Given the description of an element on the screen output the (x, y) to click on. 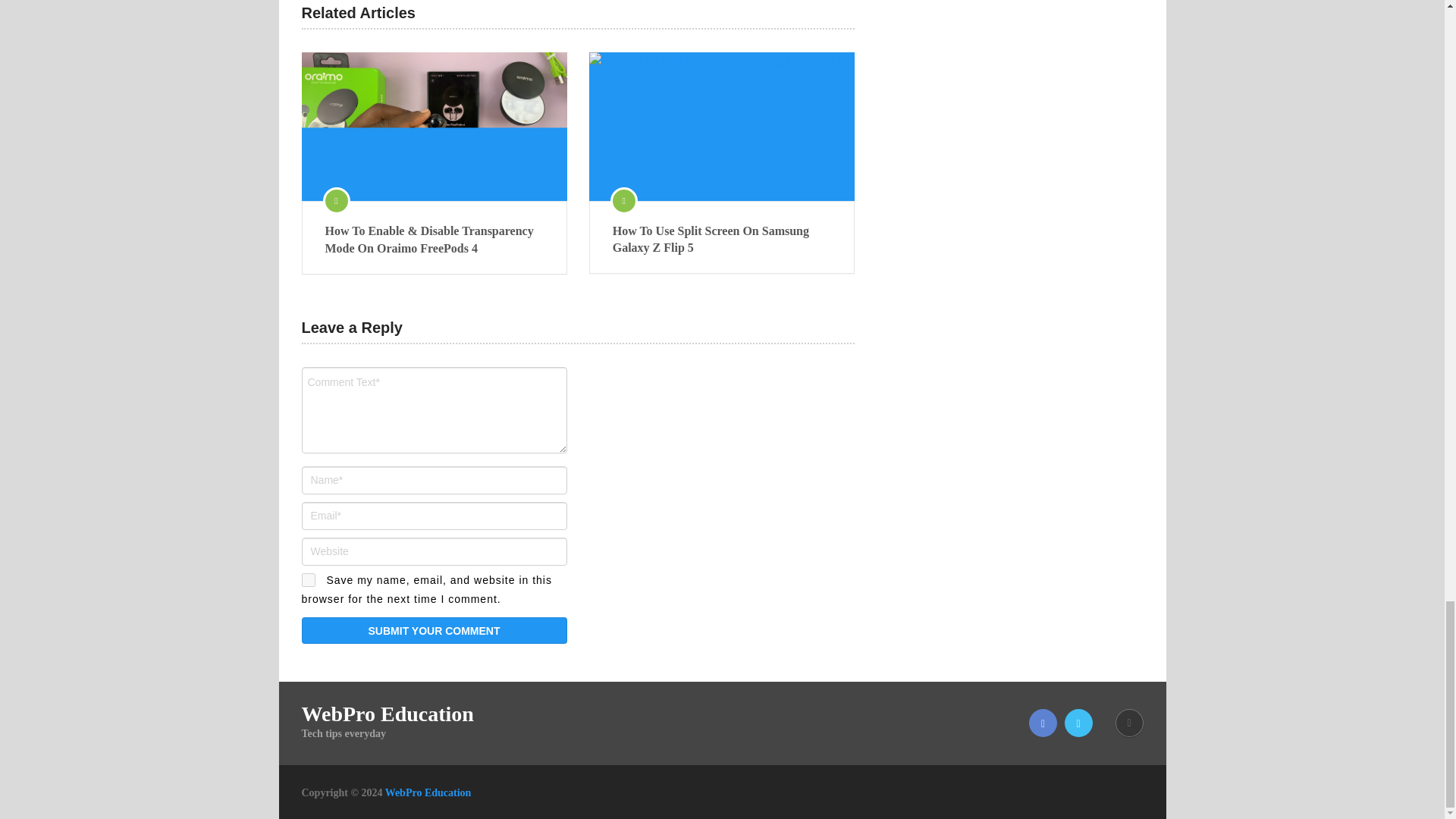
yes (308, 580)
 Tech tips everyday (428, 792)
Submit Your Comment (434, 630)
How To Use Split Screen On Samsung Galaxy Z Flip 5 (721, 239)
WebPro Education (387, 713)
Submit Your Comment (434, 630)
How To Use Split Screen On Samsung Galaxy Z Flip 5 (721, 239)
How To Use Split Screen On Samsung Galaxy Z Flip 5 (721, 126)
